Given the description of an element on the screen output the (x, y) to click on. 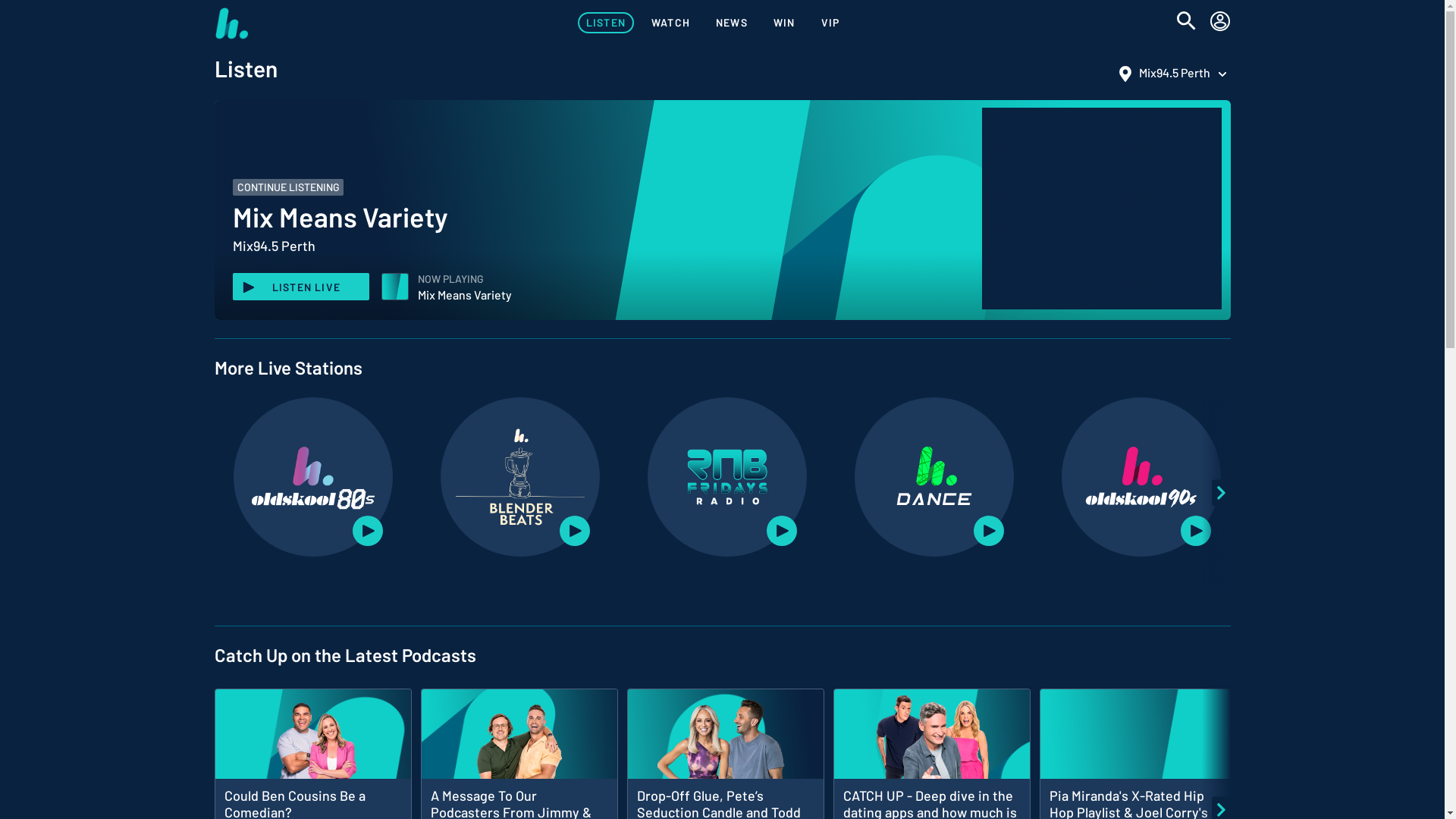
LISTEN Element type: text (605, 22)
NEWS Element type: text (731, 22)
Carrie & Tommy Element type: hover (724, 743)
Hit Play Element type: hover (1137, 743)
Dance Hits Element type: hover (933, 476)
Blender Beats Element type: hover (519, 476)
Oldskool 90s Hits Element type: hover (1140, 476)
WATCH Element type: text (670, 22)
LISTEN LIVE Element type: text (300, 286)
OldSkool80s Element type: hover (312, 476)
Hit Network Element type: hover (230, 23)
Pete & Kymba Element type: hover (312, 743)
WIN Element type: text (784, 22)
3rd party ad content Element type: hover (1100, 208)
RnB Fridays Radio Element type: hover (726, 476)
Jimmy & Nath  Element type: hover (518, 743)
Hughesy, Ed & Erin Element type: hover (930, 743)
VIP Element type: text (830, 22)
Mix Means Variety Element type: hover (394, 287)
